Given the description of an element on the screen output the (x, y) to click on. 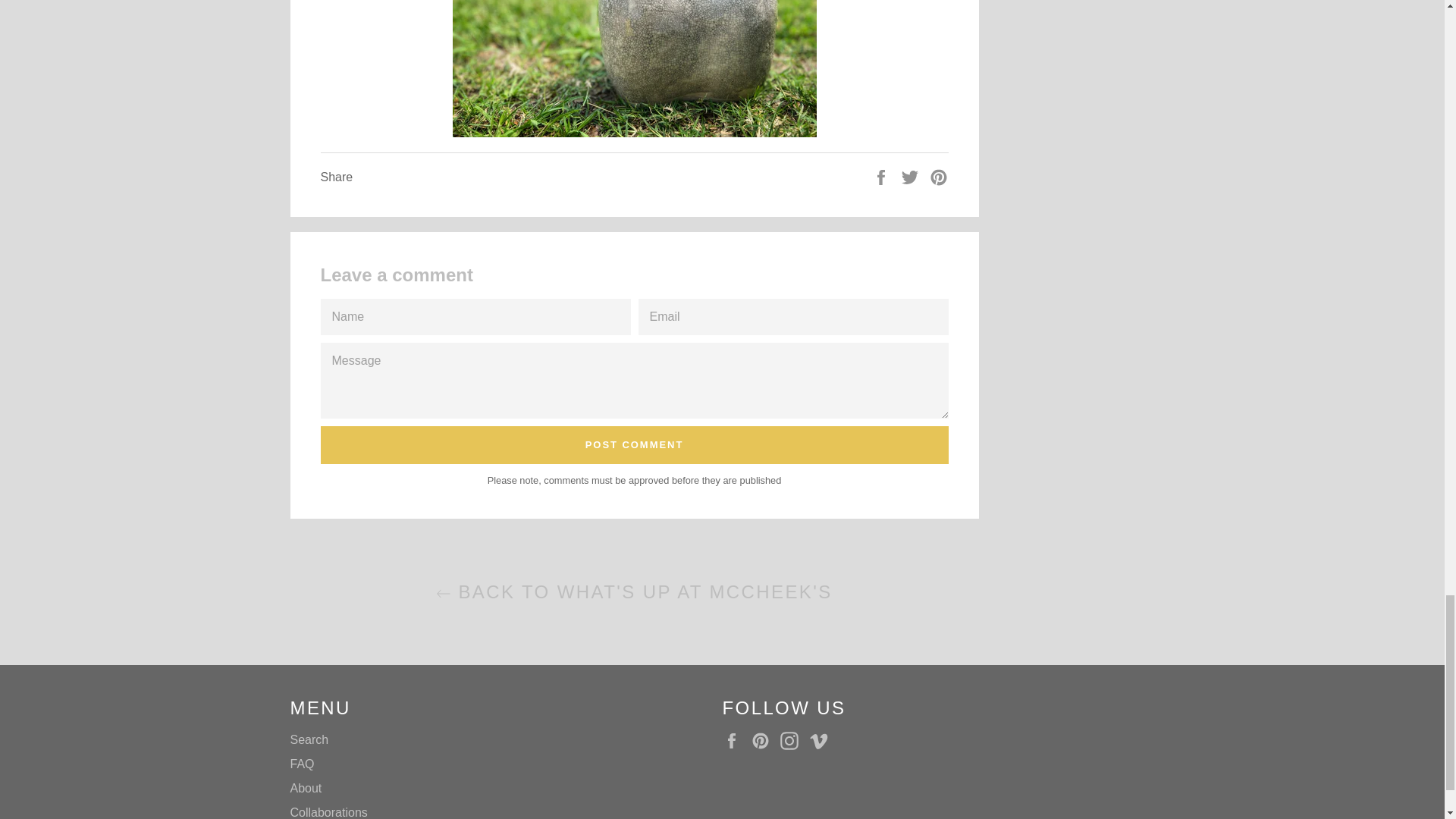
Pin on Pinterest (938, 175)
Tweet on Twitter (911, 175)
McCheek's Studio on Vimeo (822, 741)
Post comment (633, 444)
McCheek's Studio on Facebook (735, 741)
McCheek's Studio on Pinterest (764, 741)
Pin on Pinterest (938, 175)
McCheek's Studio on Instagram (793, 741)
Tweet on Twitter (911, 175)
Share on Facebook (882, 175)
Share on Facebook (882, 175)
